Given the description of an element on the screen output the (x, y) to click on. 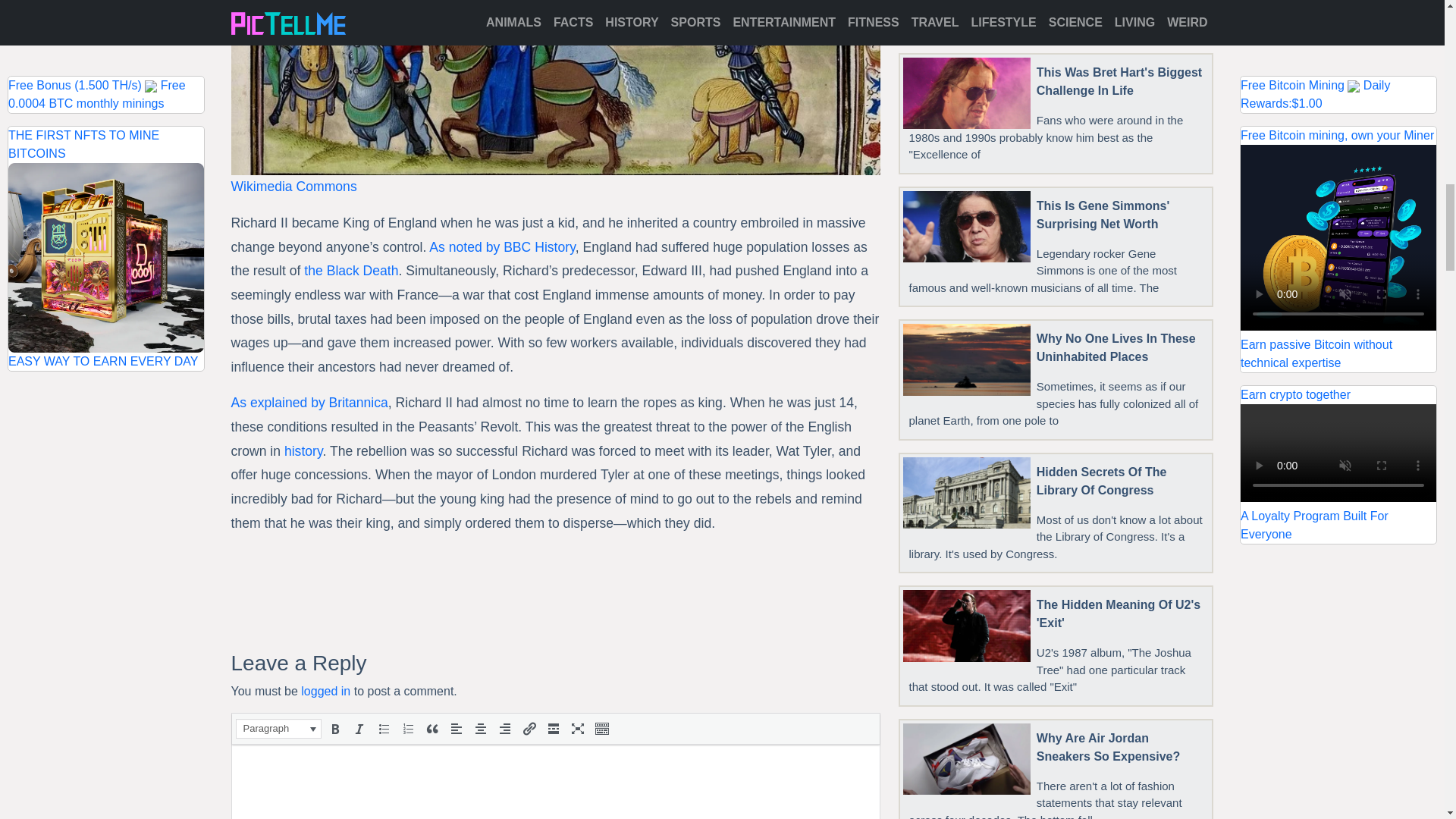
As noted by BBC History (502, 246)
Wikimedia Commons (293, 186)
Rich Text Area. Press Alt-Shift-H for help. (555, 781)
